Given the description of an element on the screen output the (x, y) to click on. 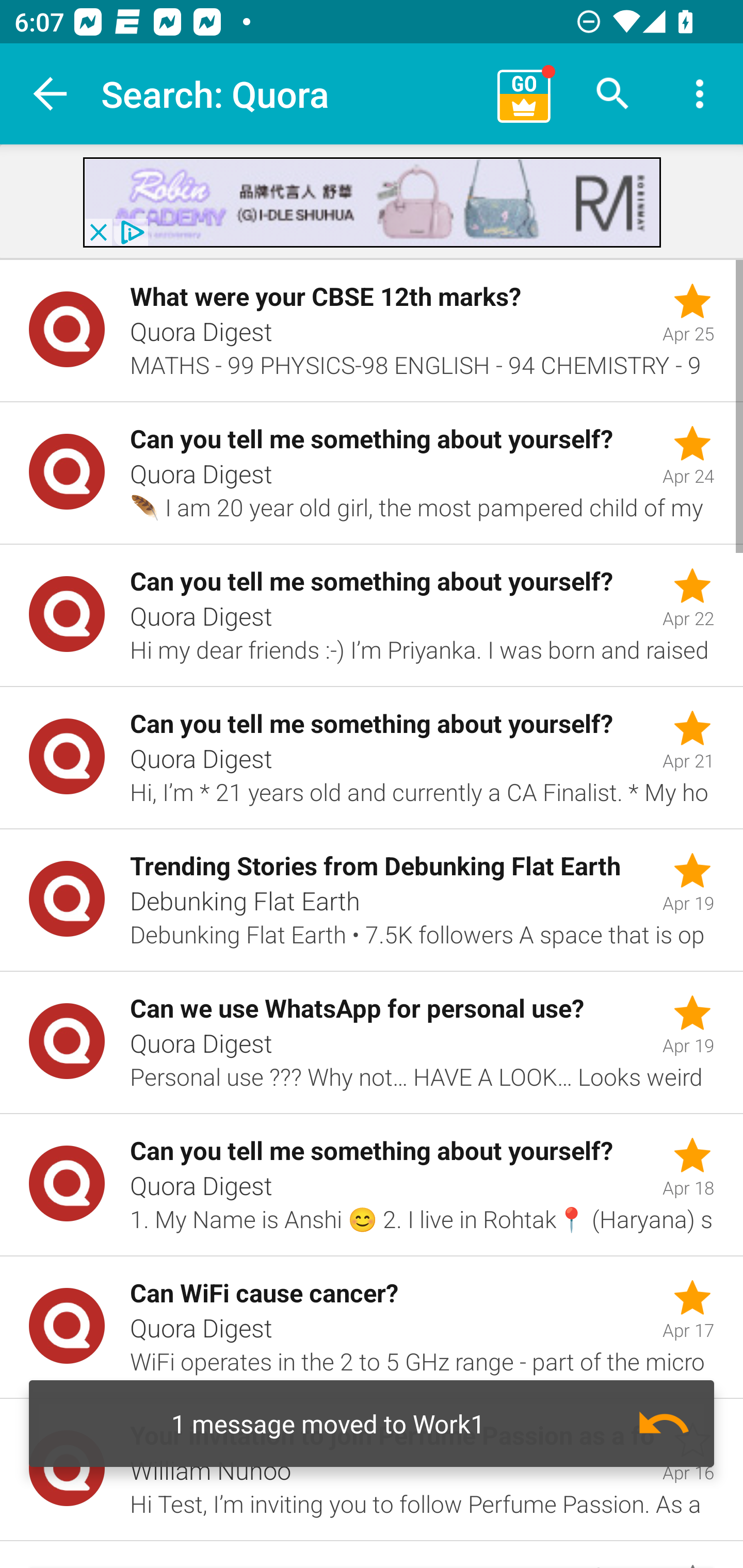
Navigate up (50, 93)
Search (612, 93)
More options (699, 93)
close_button (97, 231)
privacy_small (130, 231)
Undo 1 message moved to Work1 (371, 1423)
